Given the description of an element on the screen output the (x, y) to click on. 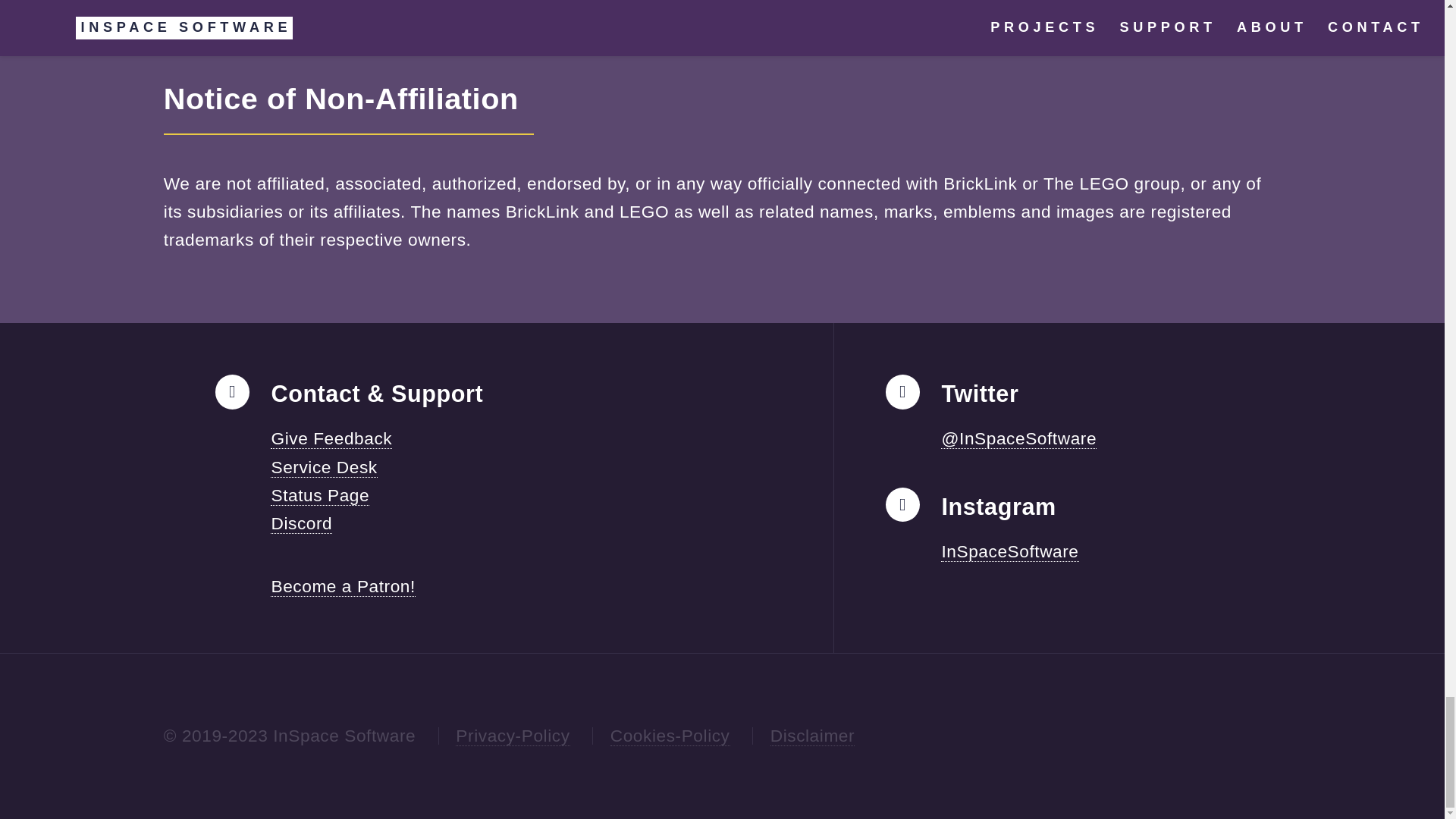
Cookies-Policy (670, 735)
Privacy-Policy (512, 735)
Service Desk (323, 467)
InSpaceSoftware (1009, 551)
Disclaimer (812, 735)
Become a Patron! (342, 586)
Give Feedback (330, 438)
Discord (300, 523)
Status Page (319, 495)
